Given the description of an element on the screen output the (x, y) to click on. 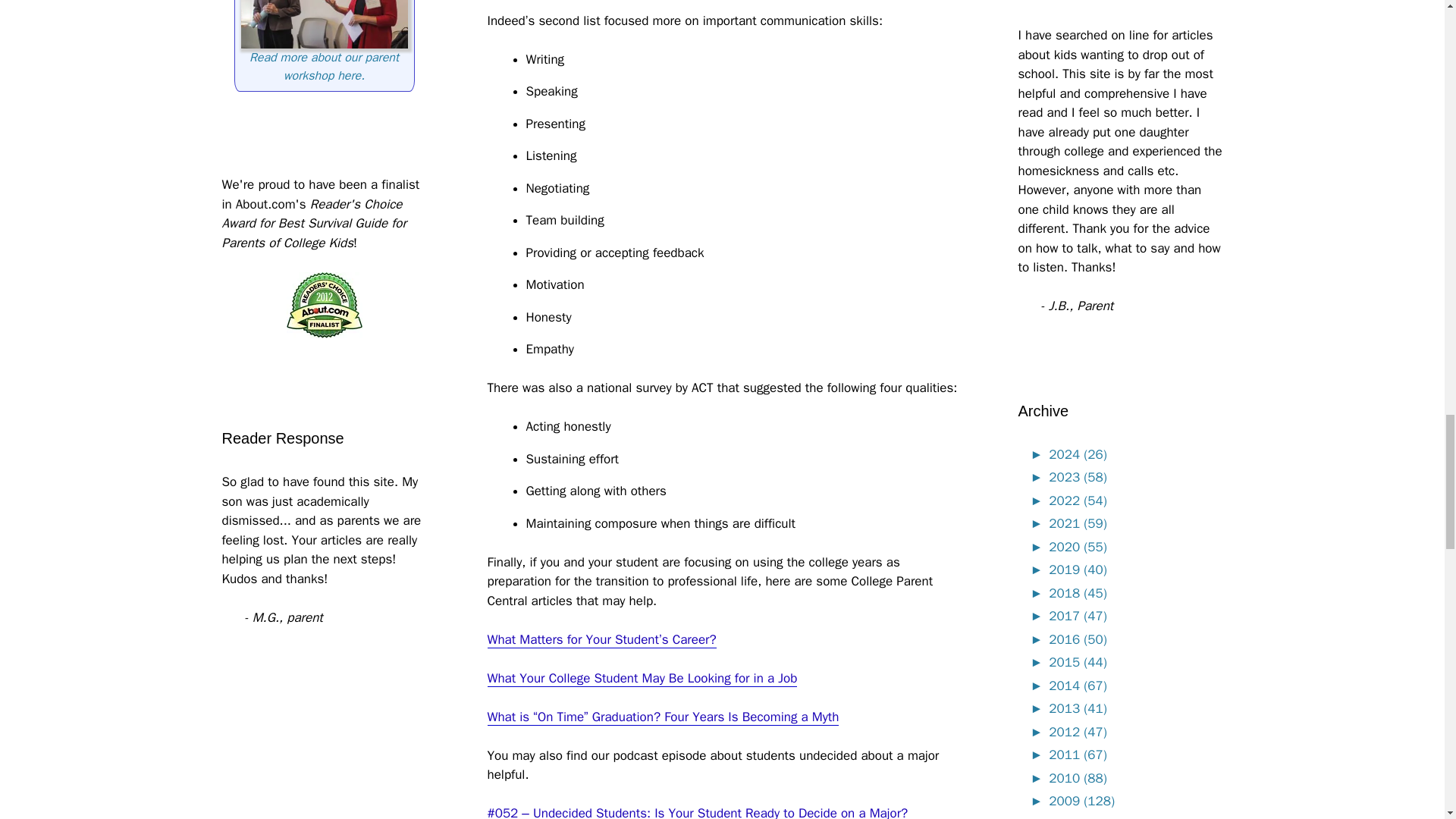
2024 (1077, 454)
Bring College Parent Central to your group (323, 66)
2024 (1038, 454)
